Given the description of an element on the screen output the (x, y) to click on. 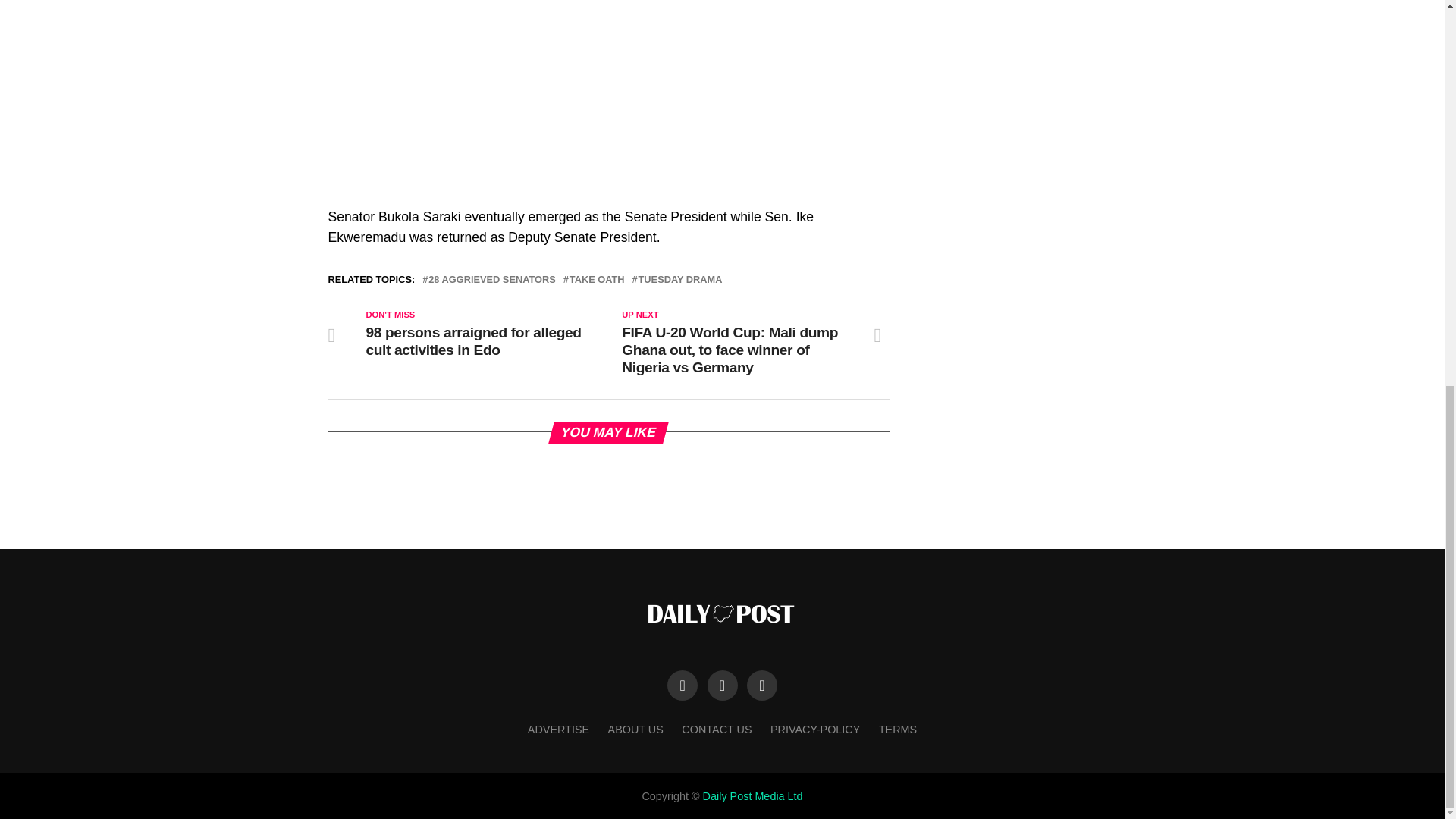
ADVERTISE (558, 729)
ABOUT US (635, 729)
TAKE OATH (596, 280)
Daily Post Media Ltd (753, 796)
TERMS (898, 729)
CONTACT US (716, 729)
PRIVACY-POLICY (815, 729)
28 AGGRIEVED SENATORS (492, 280)
TUESDAY DRAMA (680, 280)
